Given the description of an element on the screen output the (x, y) to click on. 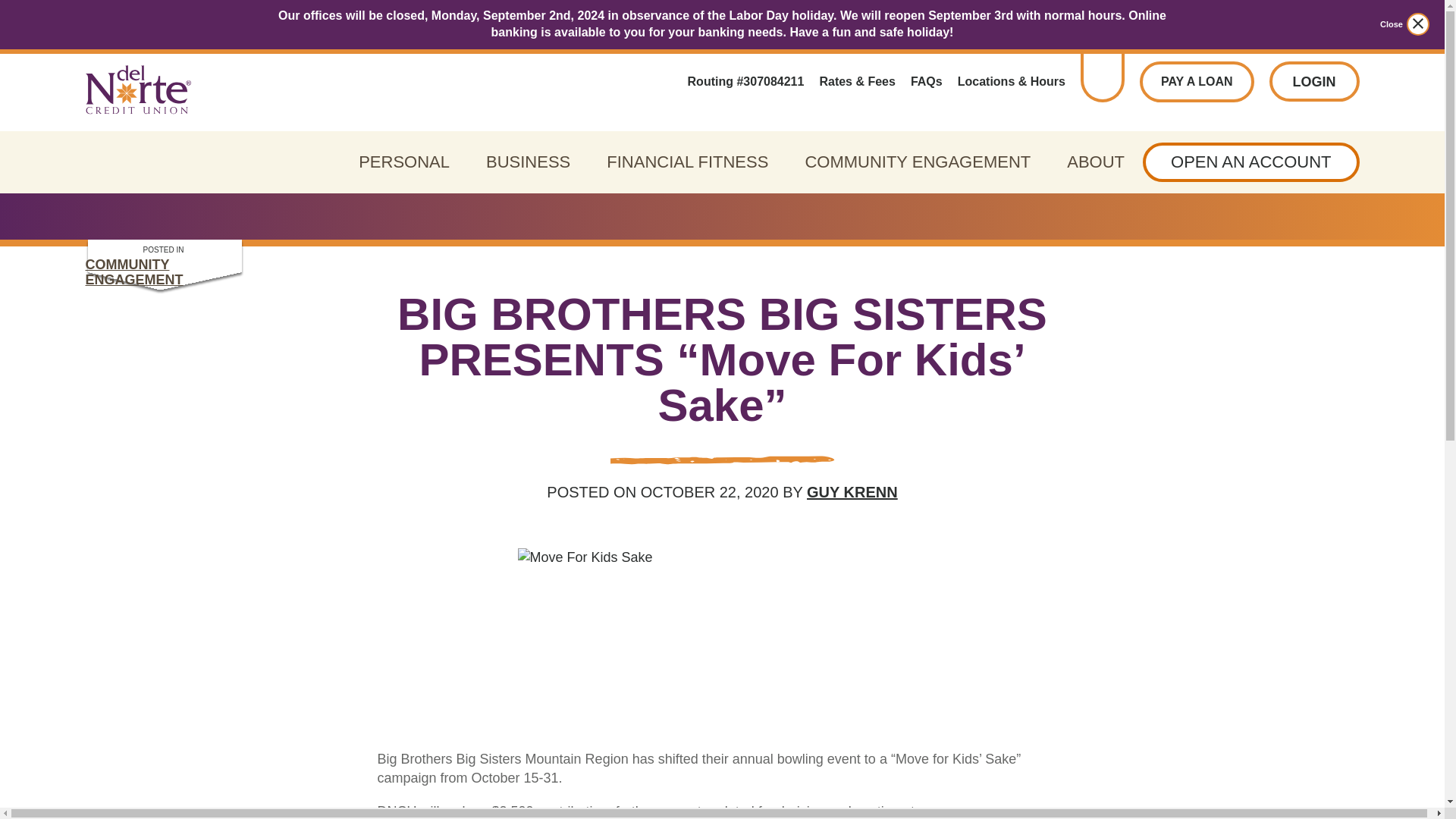
FAQs (926, 81)
PAY A LOAN (1196, 81)
LOGIN (1314, 81)
PERSONAL (403, 161)
